Given the description of an element on the screen output the (x, y) to click on. 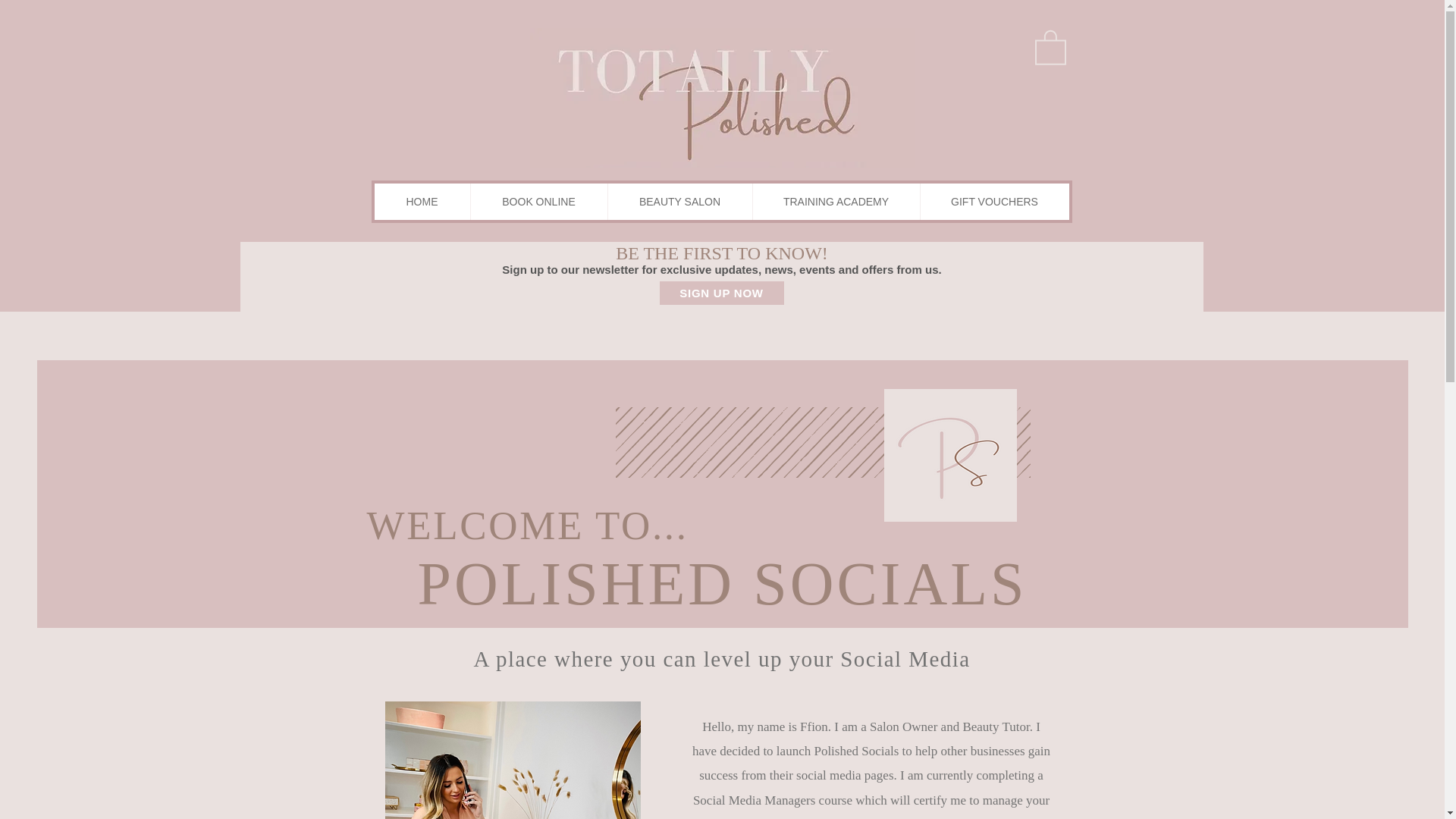
HOME (422, 201)
GIFT VOUCHERS (993, 201)
BOOK ONLINE (538, 201)
BEAUTY SALON (679, 201)
SIGN UP NOW (721, 292)
TRAINING ACADEMY (836, 201)
